Given the description of an element on the screen output the (x, y) to click on. 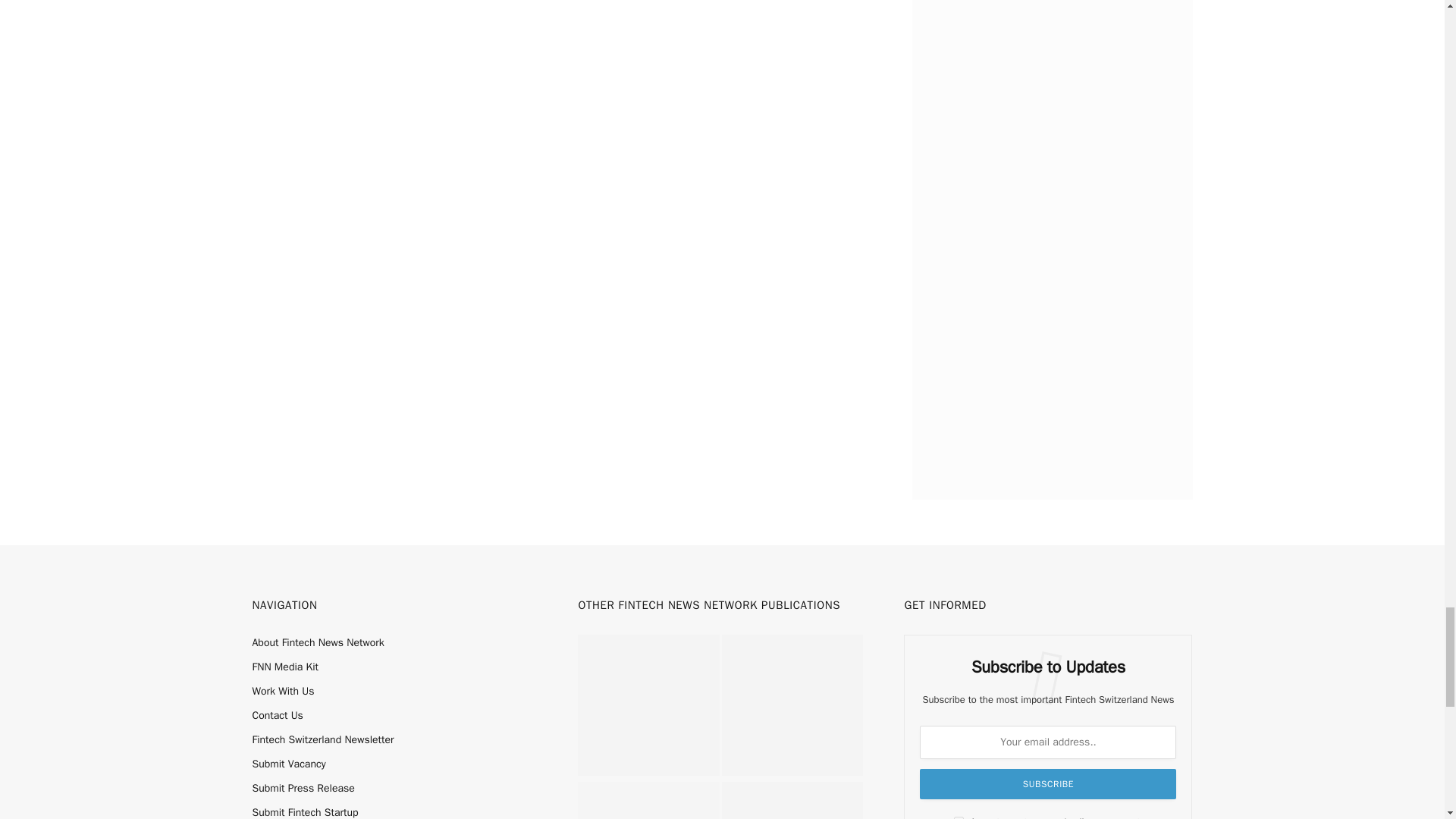
Subscribe (1048, 784)
